Given the description of an element on the screen output the (x, y) to click on. 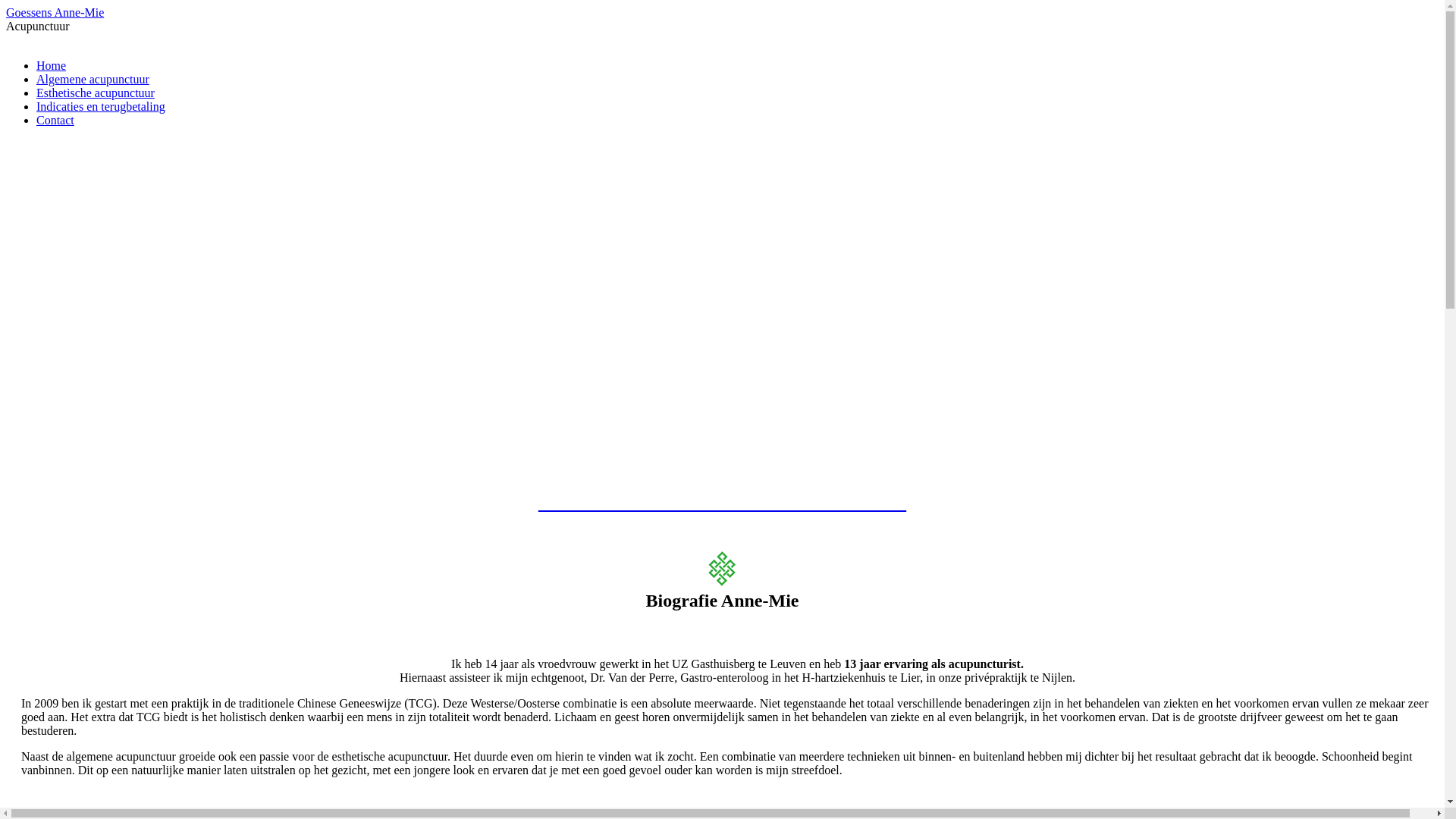
Algemene acupunctuur Element type: text (92, 78)
Indicaties en terugbetaling Element type: text (100, 106)
Contact Element type: text (55, 119)
Home Element type: text (50, 65)
CONTACTEER MIJ VOOR EEN AFSPRAAK Element type: text (722, 502)
Esthetische acupunctuur Element type: text (95, 92)
Goessens Anne-Mie Element type: text (54, 12)
